Given the description of an element on the screen output the (x, y) to click on. 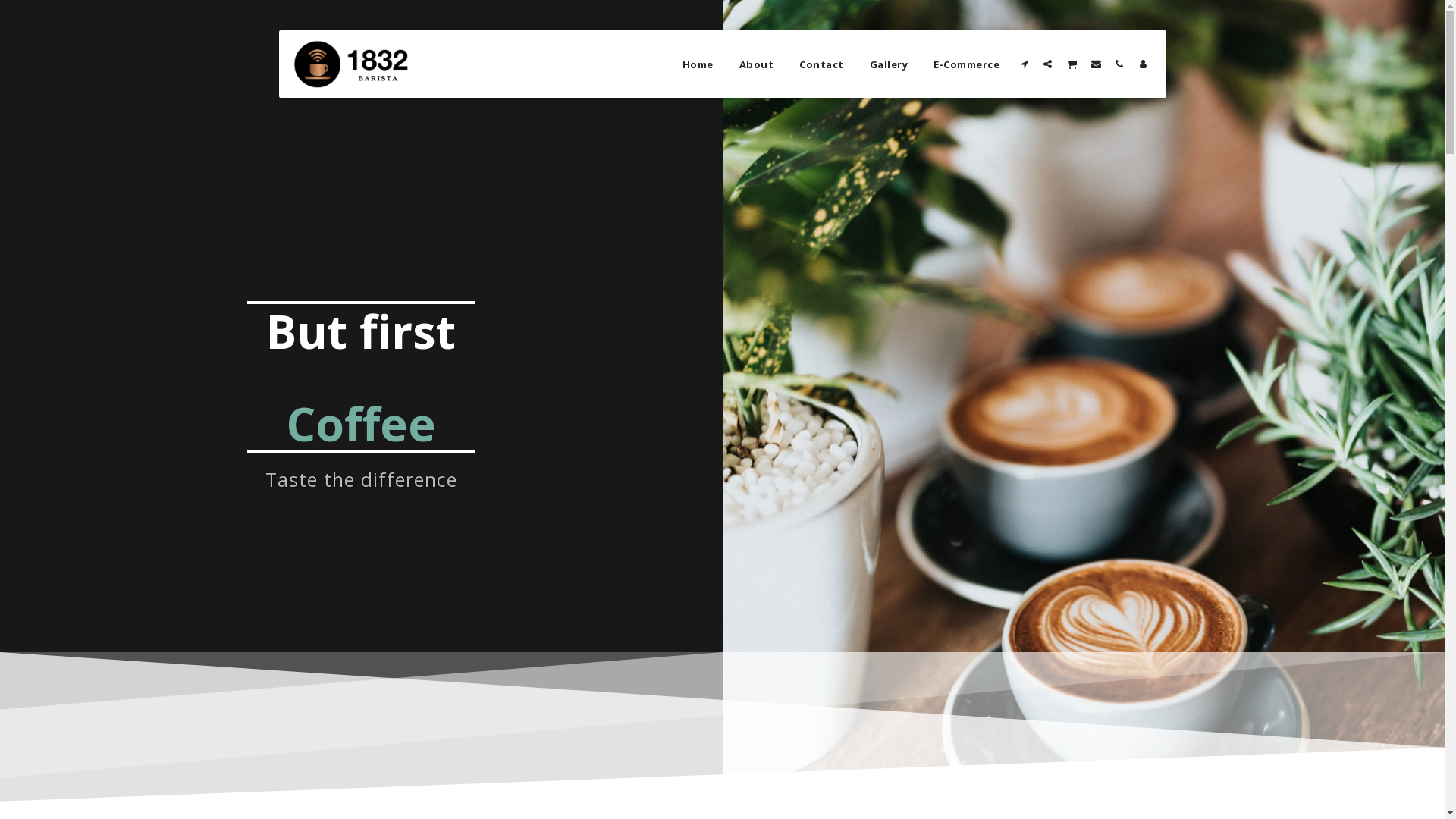
  Element type: text (1142, 63)
  Element type: text (1095, 63)
  Element type: text (1047, 63)
Home Element type: text (697, 64)
  Element type: text (1071, 63)
  Element type: text (1024, 63)
Contact Element type: text (821, 64)
About Element type: text (756, 64)
  Element type: text (1119, 63)
E-Commerce Element type: text (966, 64)
Gallery Element type: text (888, 64)
